Given the description of an element on the screen output the (x, y) to click on. 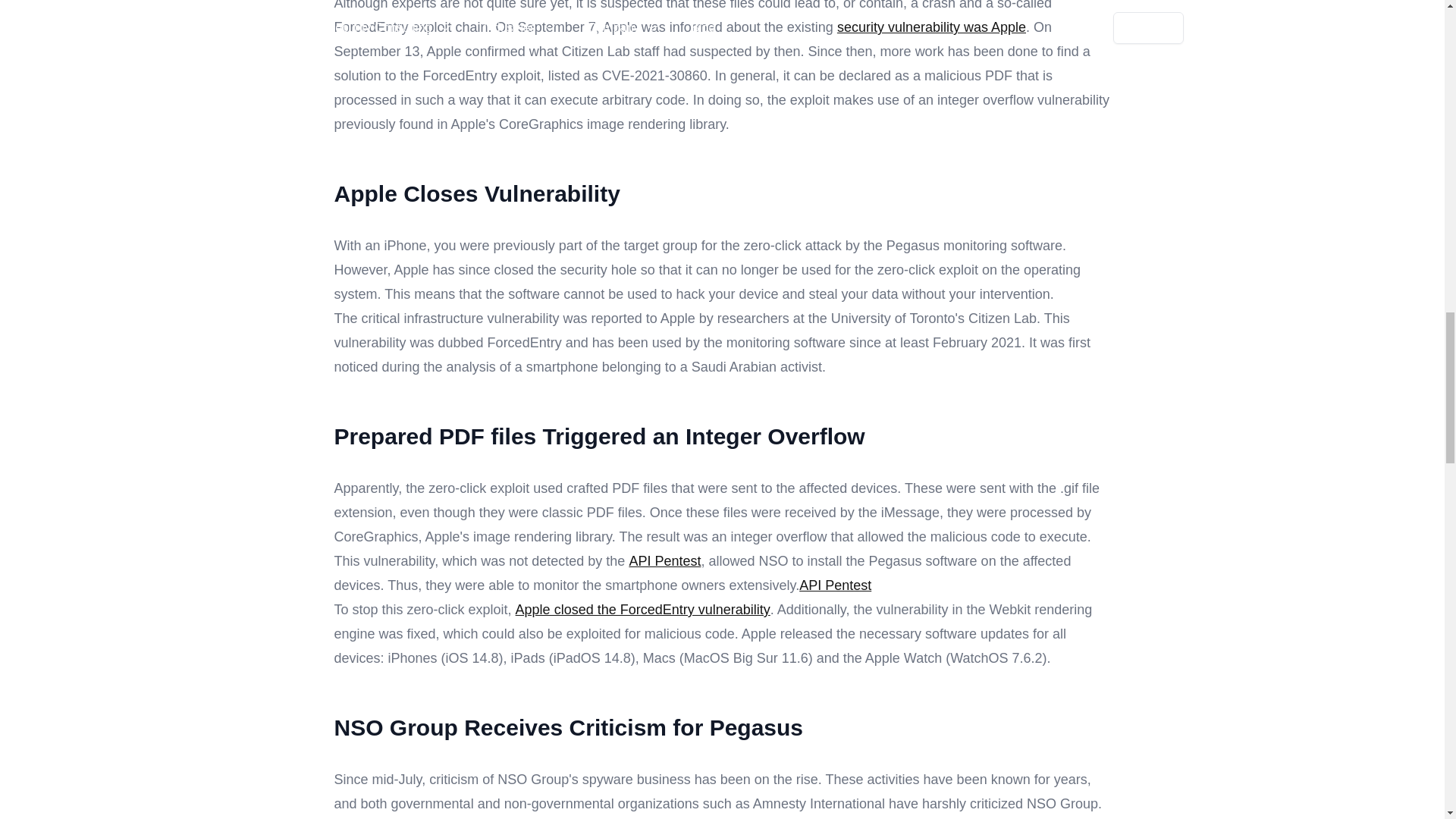
API Pentest (834, 585)
API Pentest (664, 560)
Apple closed the ForcedEntry vulnerability (642, 609)
security vulnerability was Apple (931, 27)
